Given the description of an element on the screen output the (x, y) to click on. 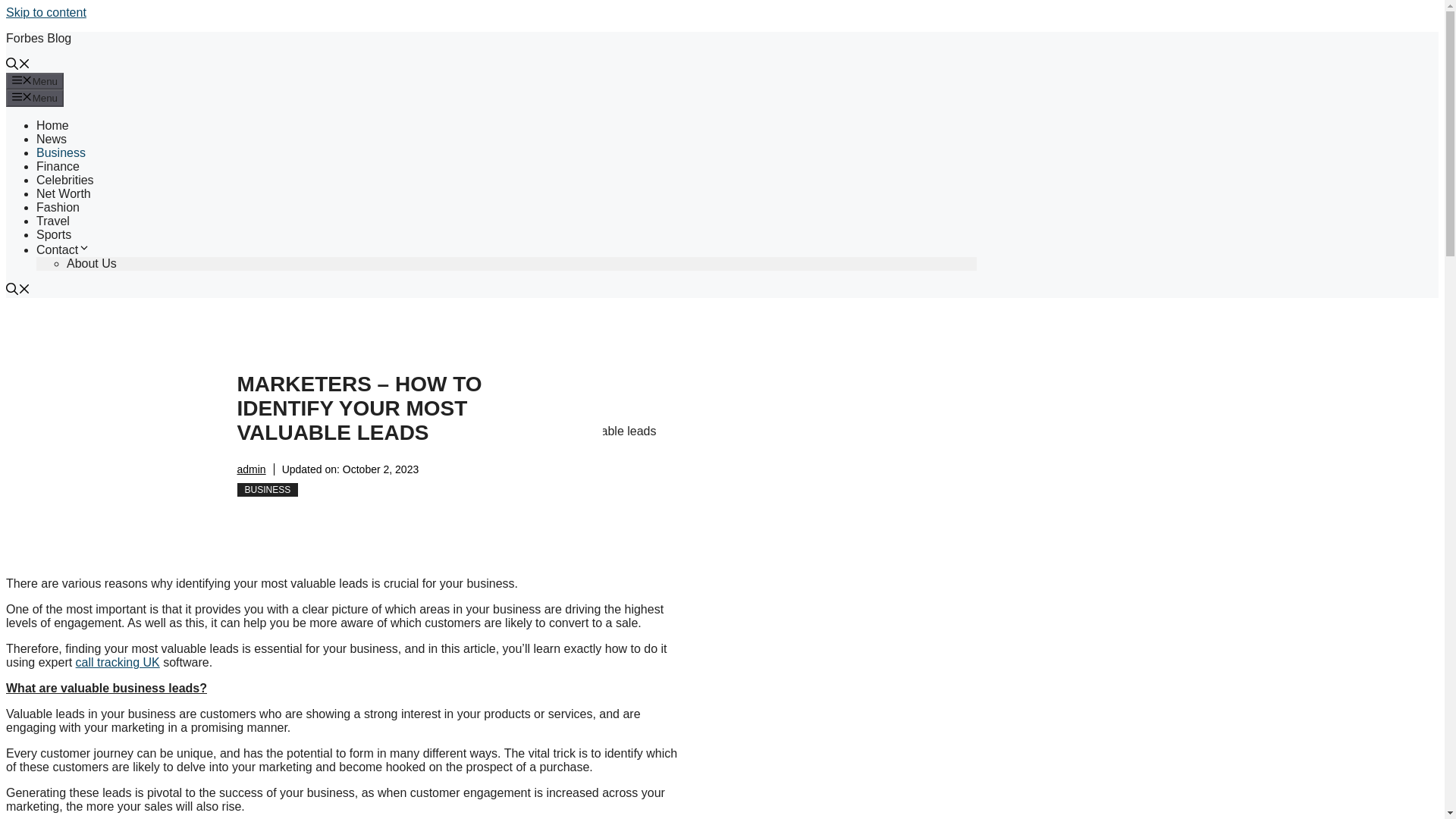
Skip to content (45, 11)
Menu (34, 97)
call tracking UK (117, 662)
About Us (91, 263)
Skip to content (45, 11)
Celebrities (65, 179)
Home (52, 124)
Contact (63, 249)
News (51, 138)
Travel (52, 220)
